Given the description of an element on the screen output the (x, y) to click on. 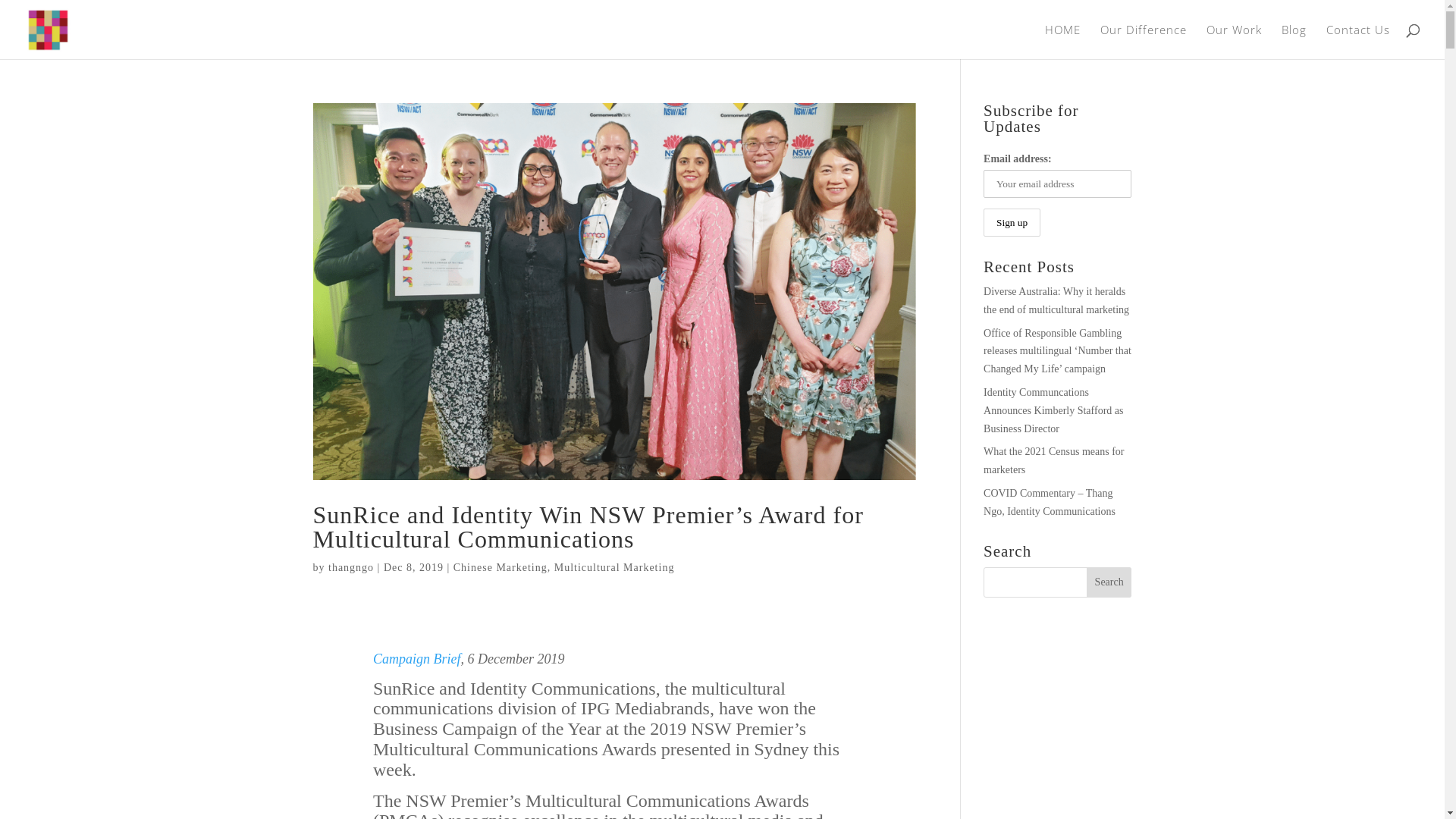
Contact Us Element type: text (1358, 41)
Sign up Element type: text (1011, 222)
Chinese Marketing Element type: text (500, 567)
Search Element type: text (1109, 582)
Multicultural Marketing Element type: text (614, 567)
thangngo Element type: text (350, 567)
Our Work Element type: text (1233, 41)
Blog Element type: text (1293, 41)
Campaign Brief Element type: text (417, 658)
Our Difference Element type: text (1143, 41)
What the 2021 Census means for marketers Element type: text (1053, 460)
HOME Element type: text (1062, 41)
